Given the description of an element on the screen output the (x, y) to click on. 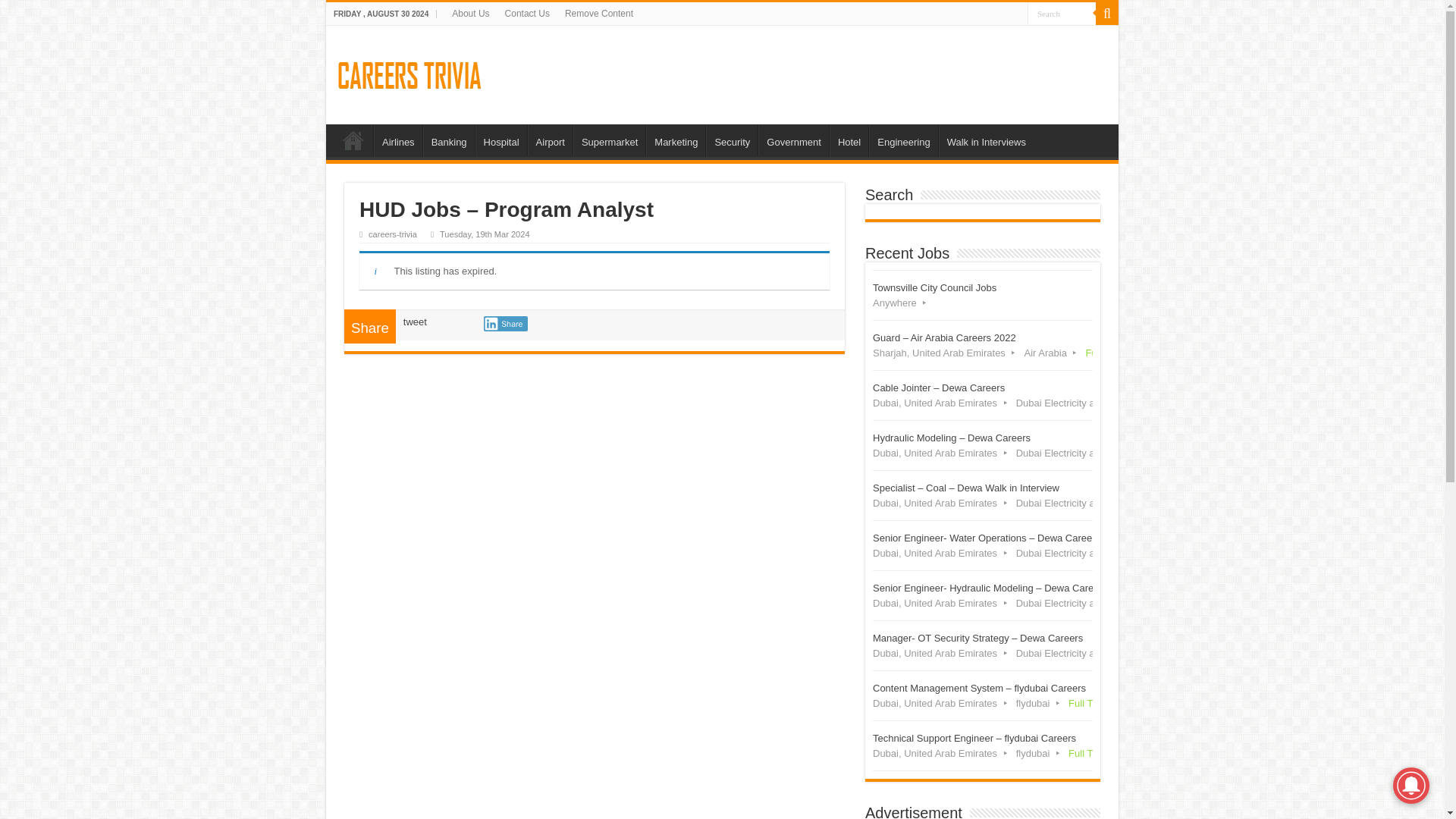
Government (793, 140)
Banking (448, 140)
Contact Us (527, 13)
Remove Content (598, 13)
Airlines (982, 295)
Supermarket (398, 140)
Home (609, 140)
Security (352, 140)
Hospital (731, 140)
